Given the description of an element on the screen output the (x, y) to click on. 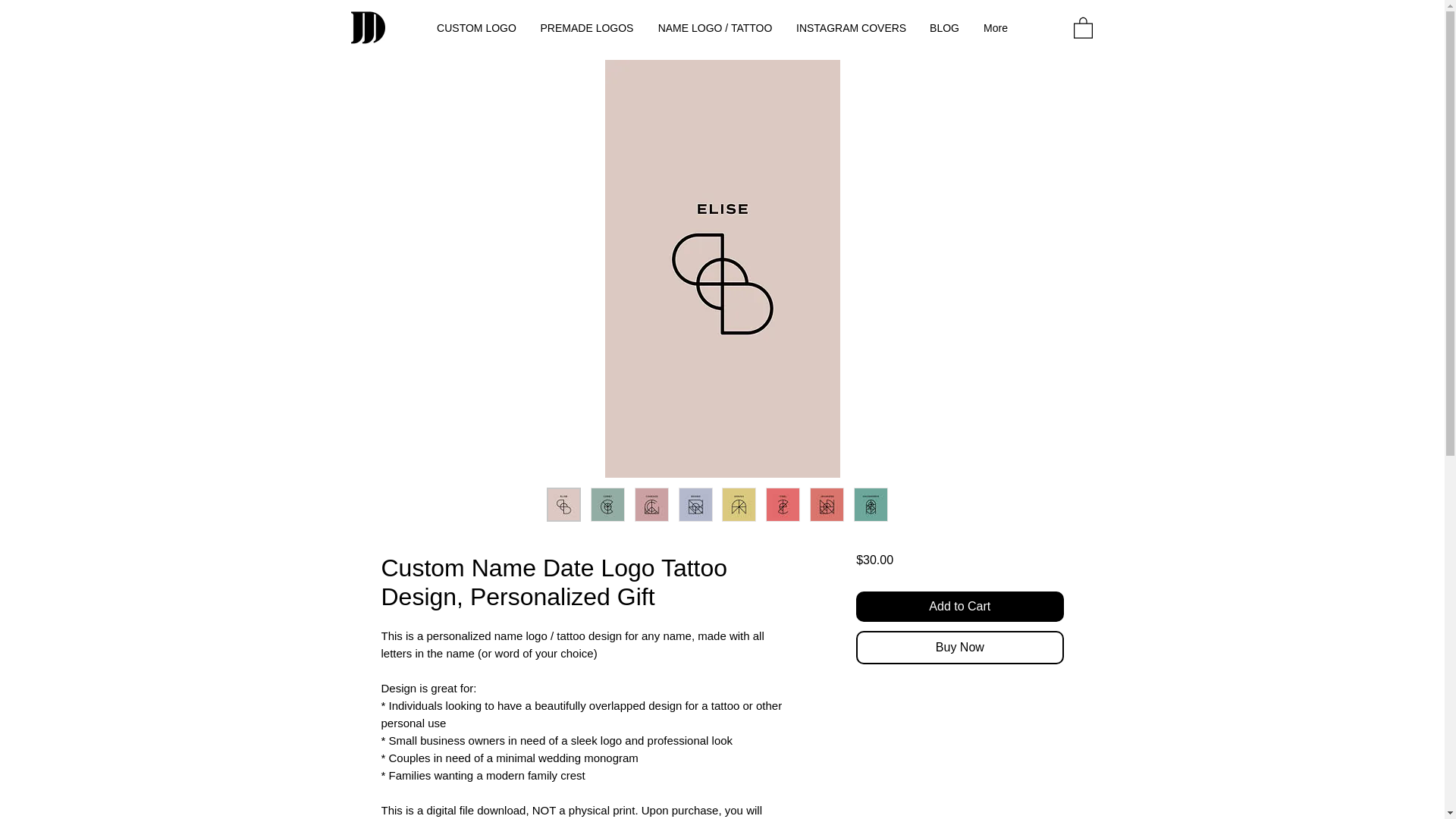
BLOG (944, 27)
PREMADE LOGOS (586, 27)
Add to Cart (959, 606)
Buy Now (959, 647)
INSTAGRAM COVERS (850, 27)
CUSTOM LOGO (476, 27)
